Given the description of an element on the screen output the (x, y) to click on. 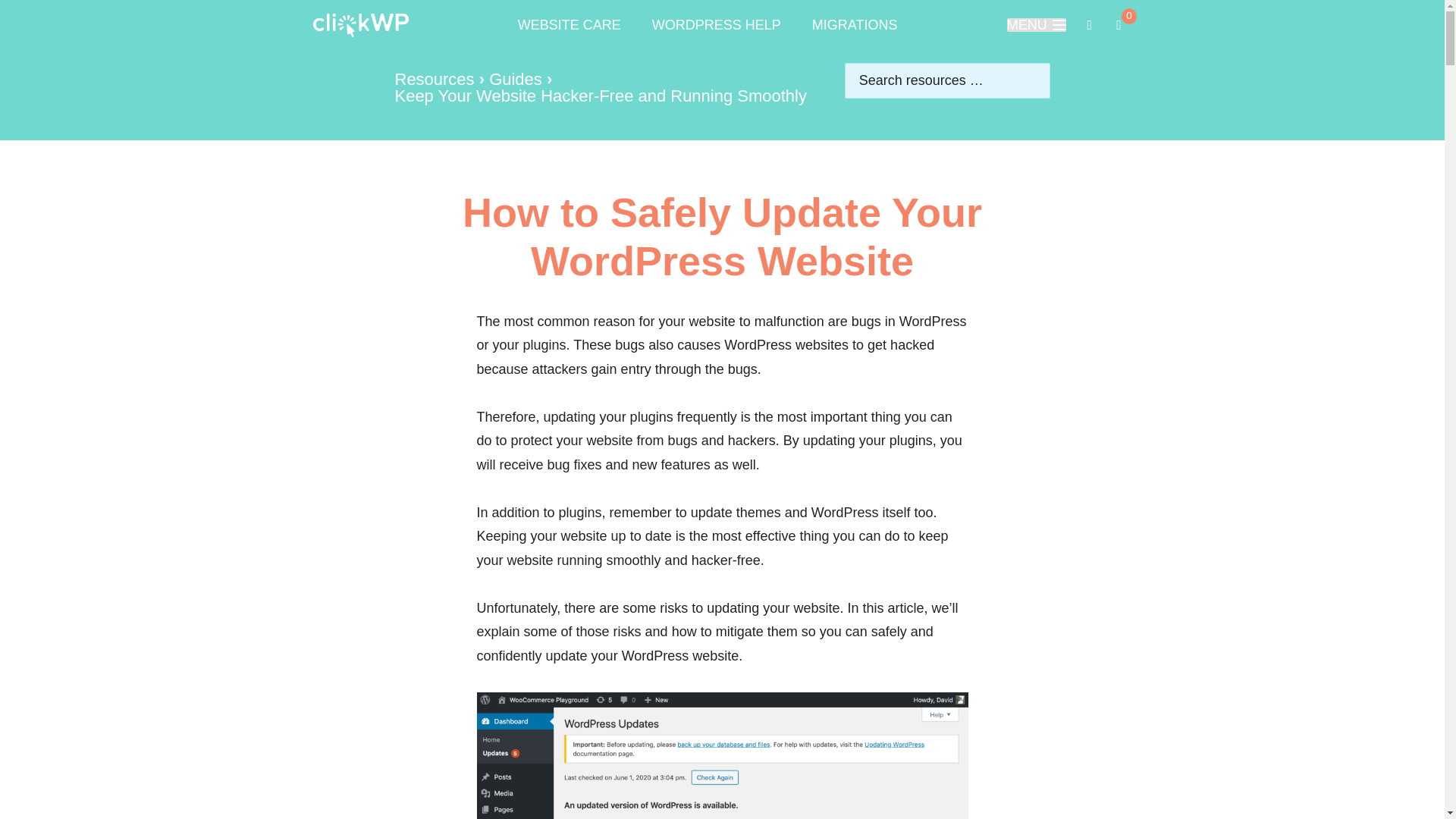
Skip to primary navigation (1117, 24)
Keep Your Website Hacker-Free and Running Smoothly (1036, 24)
Guides (600, 95)
Resources (515, 78)
MIGRATIONS (434, 78)
Search (855, 28)
WORDPRESS HELP (48, 20)
My Account (716, 28)
